Given the description of an element on the screen output the (x, y) to click on. 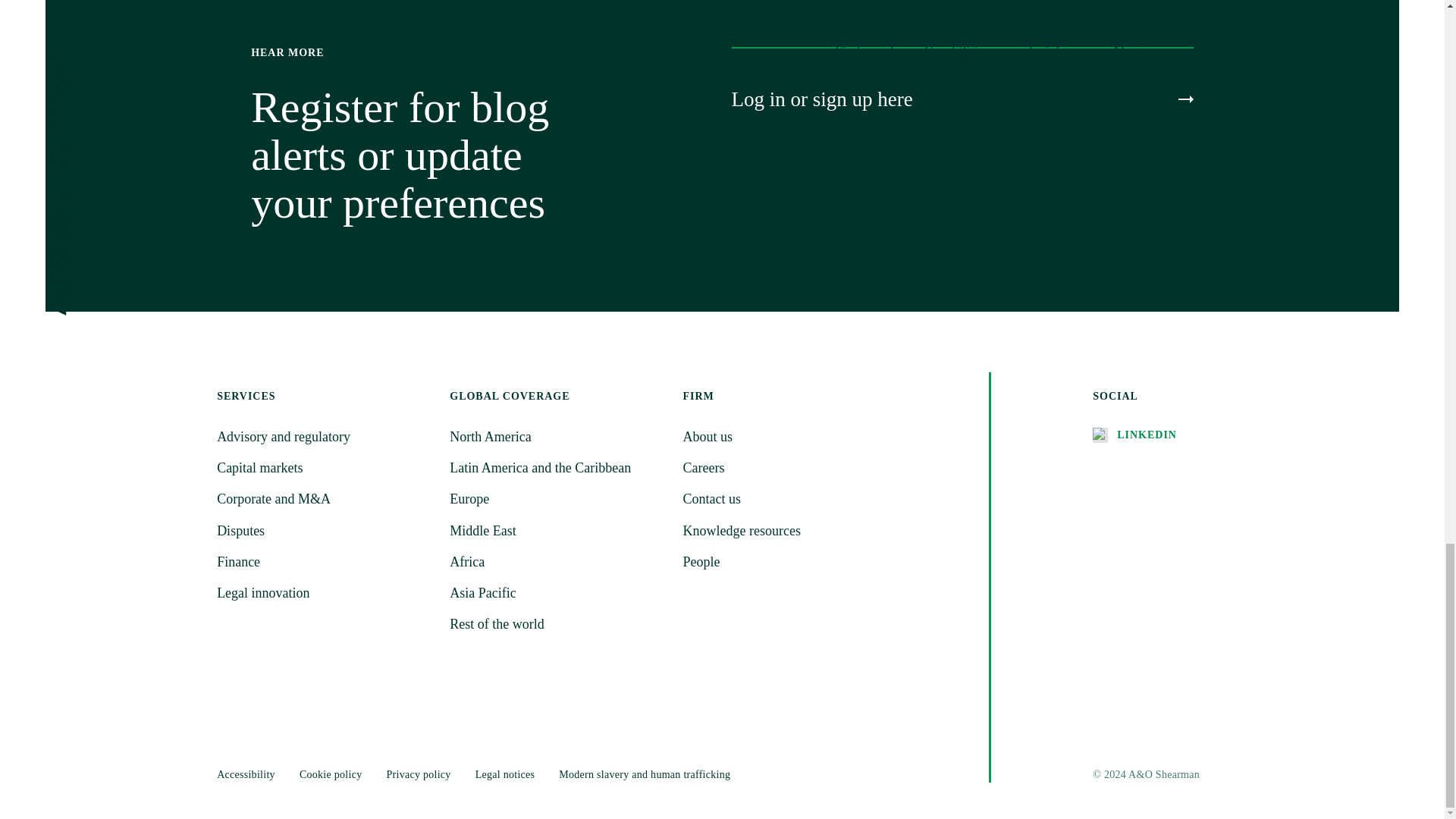
North America (556, 436)
Europe (556, 498)
Advisory and regulatory (323, 436)
Contact us (789, 498)
Asia Pacific (556, 592)
Capital markets (323, 467)
About us (789, 436)
Disputes (323, 530)
Legal innovation (323, 592)
Latin America and the Caribbean (556, 467)
